Given the description of an element on the screen output the (x, y) to click on. 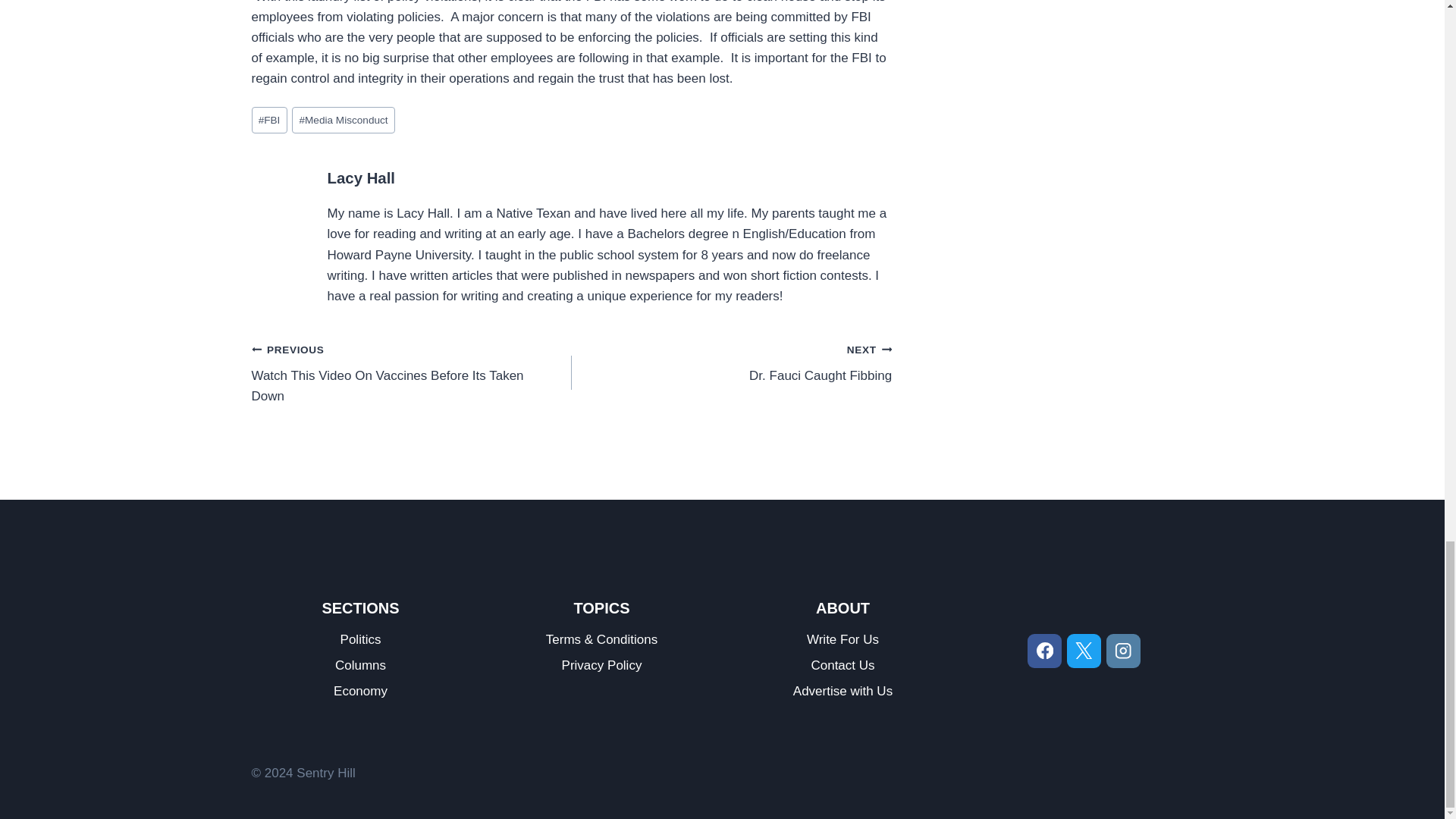
Columns (731, 362)
FBI (360, 665)
Politics (268, 120)
Lacy Hall (360, 639)
Posts by Lacy Hall (361, 176)
Economy (361, 176)
Media Misconduct (411, 373)
